Given the description of an element on the screen output the (x, y) to click on. 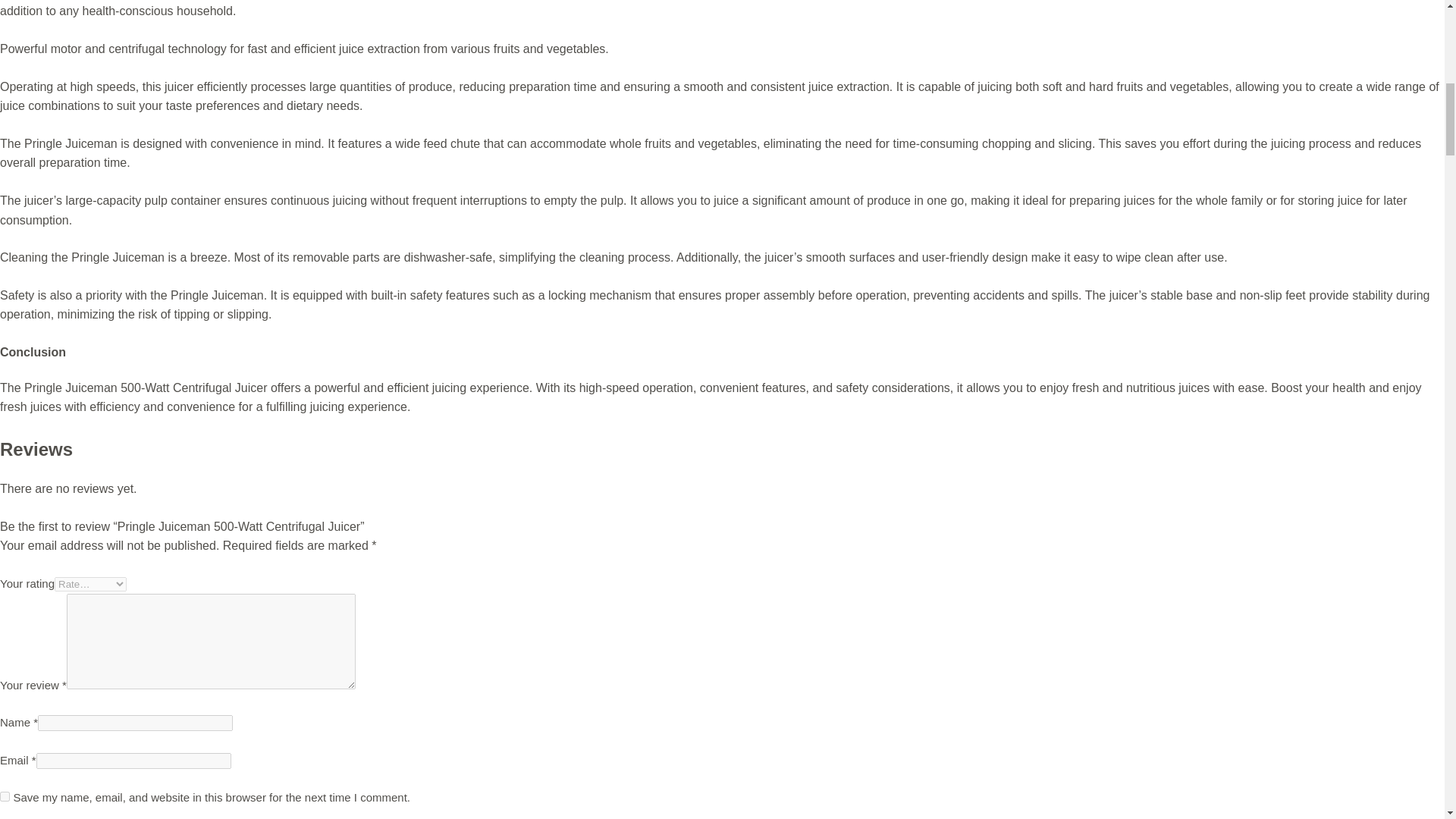
yes (5, 796)
